Given the description of an element on the screen output the (x, y) to click on. 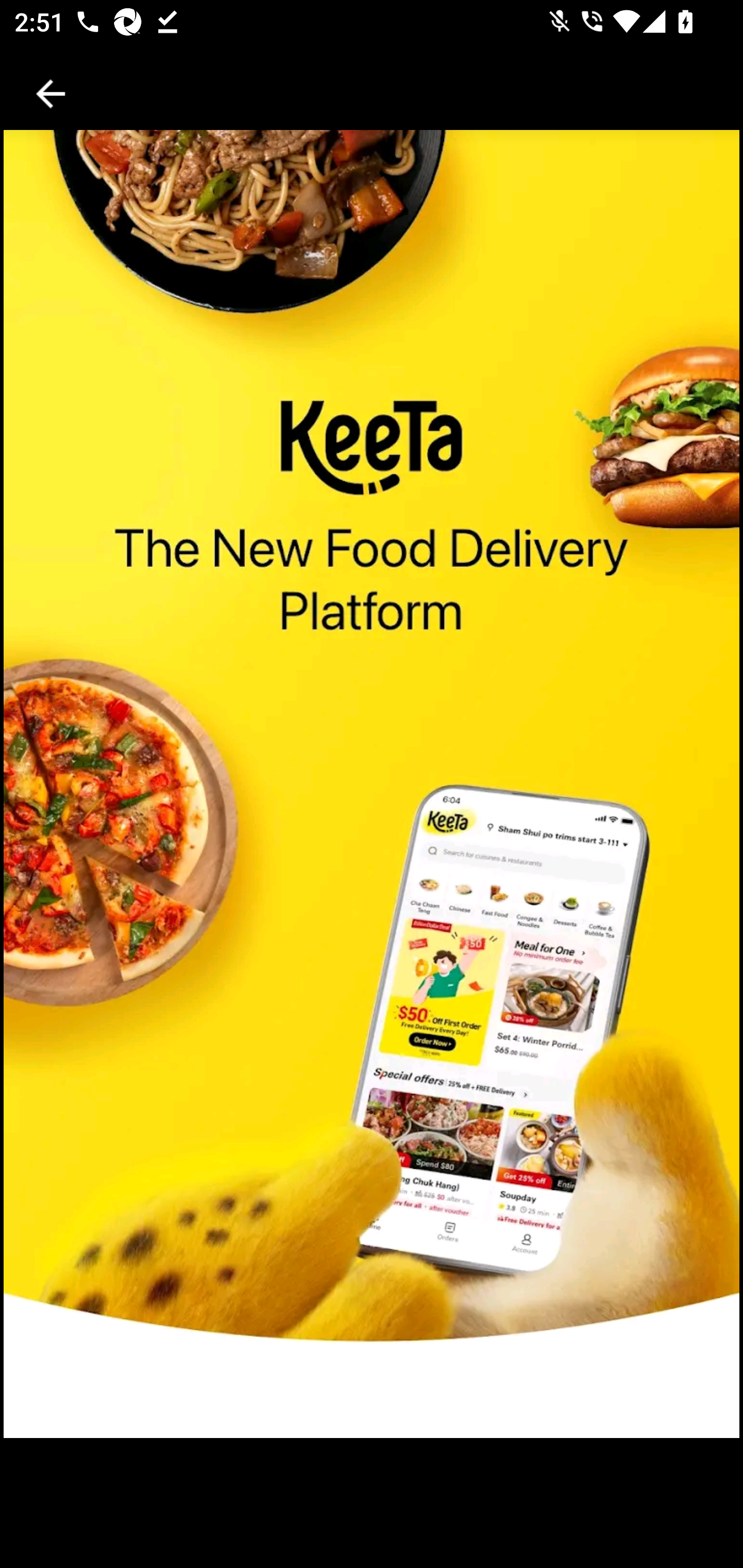
Back (50, 93)
